Given the description of an element on the screen output the (x, y) to click on. 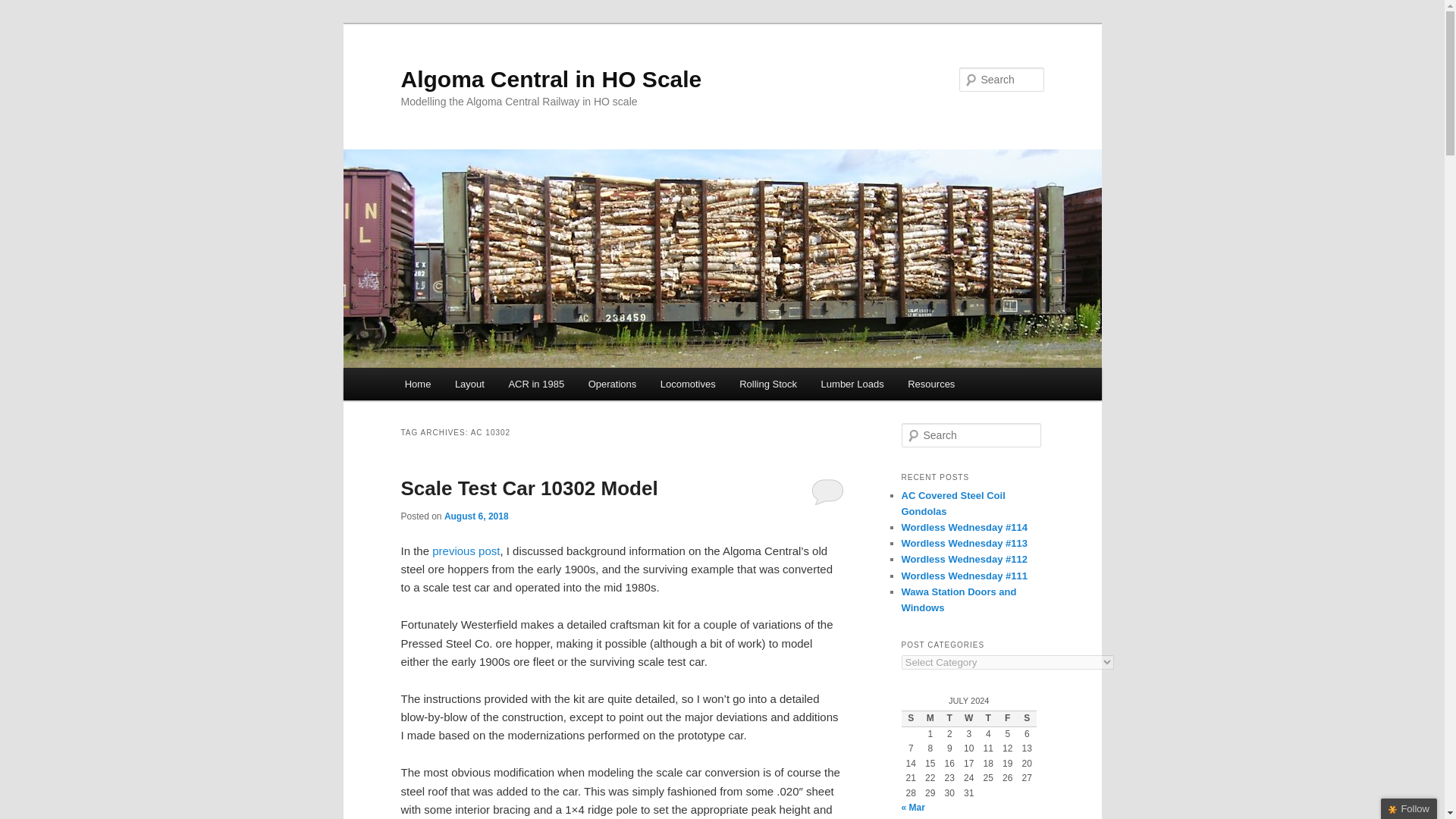
Tuesday (949, 718)
Lumber Loads (852, 383)
Resources (930, 383)
ACR in 1985 (536, 383)
9:27 am (476, 516)
Thursday (987, 718)
Saturday (1026, 718)
Locomotives (686, 383)
August 6, 2018 (476, 516)
previous post (465, 550)
Home (417, 383)
Operations (611, 383)
Algoma Central in HO Scale (550, 78)
Layout (469, 383)
